Given the description of an element on the screen output the (x, y) to click on. 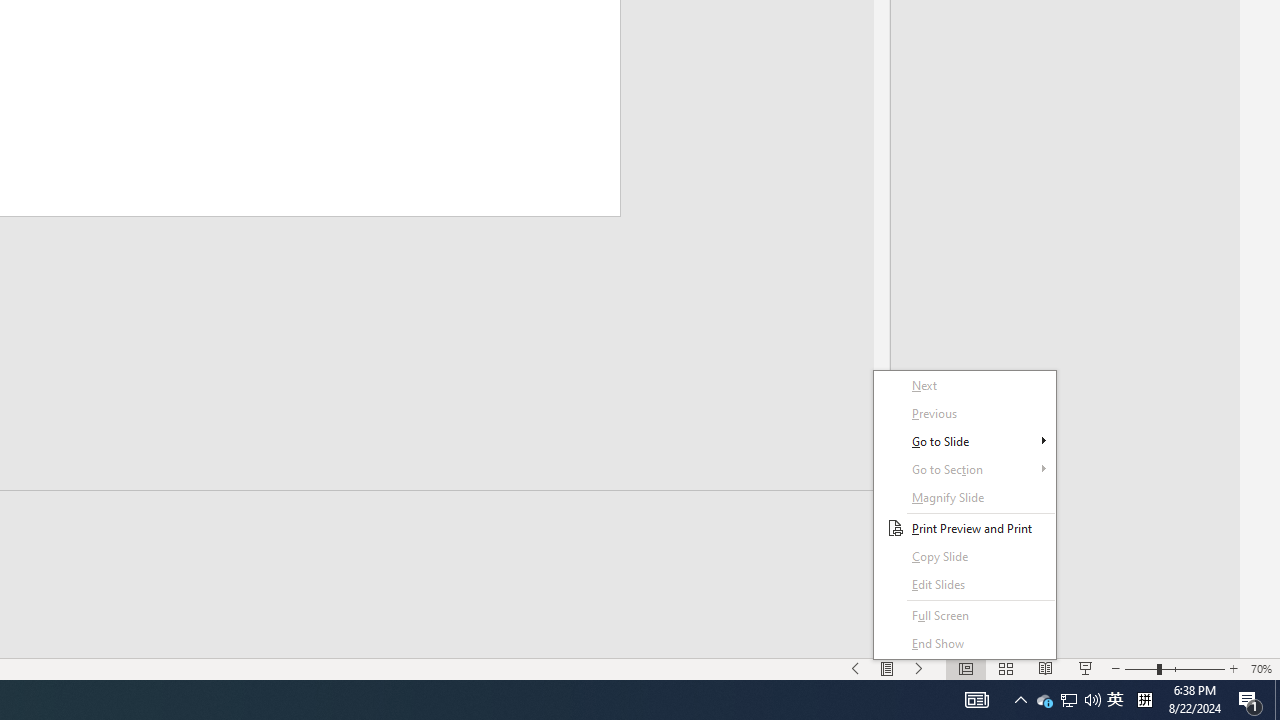
Tray Input Indicator - Chinese (Simplified, China) (1144, 699)
Context Menu (964, 515)
AutomationID: 4105 (976, 699)
Print Preview and Print (964, 528)
Slide Show Previous On (855, 668)
Previous (964, 413)
Action Center, 1 new notification (1250, 699)
Magnify Slide (964, 497)
Go to Slide (1069, 699)
Q2790: 100% (964, 441)
User Promoted Notification Area (1092, 699)
Go to Section (1068, 699)
